Given the description of an element on the screen output the (x, y) to click on. 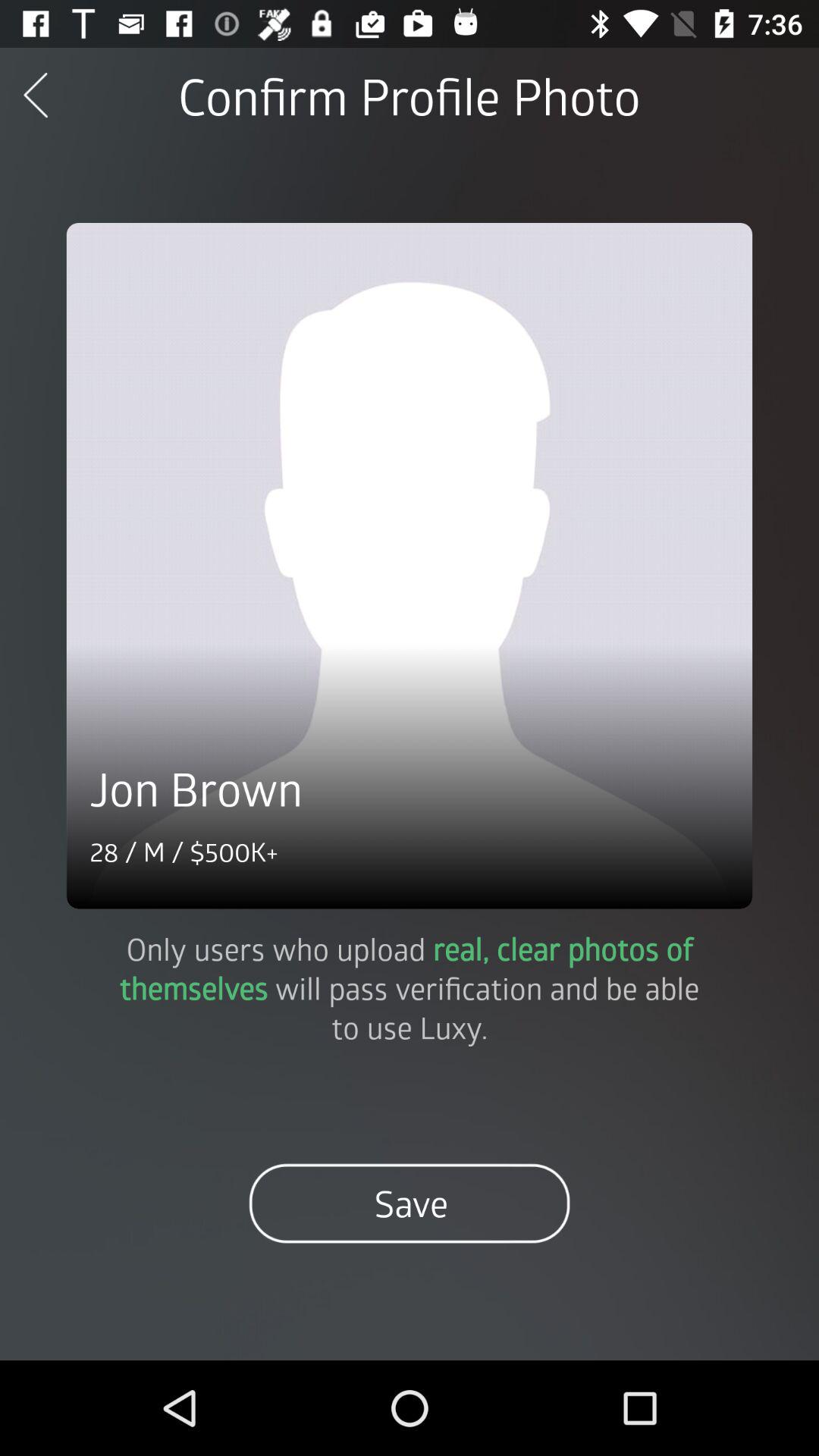
turn off icon above only users who item (409, 565)
